Given the description of an element on the screen output the (x, y) to click on. 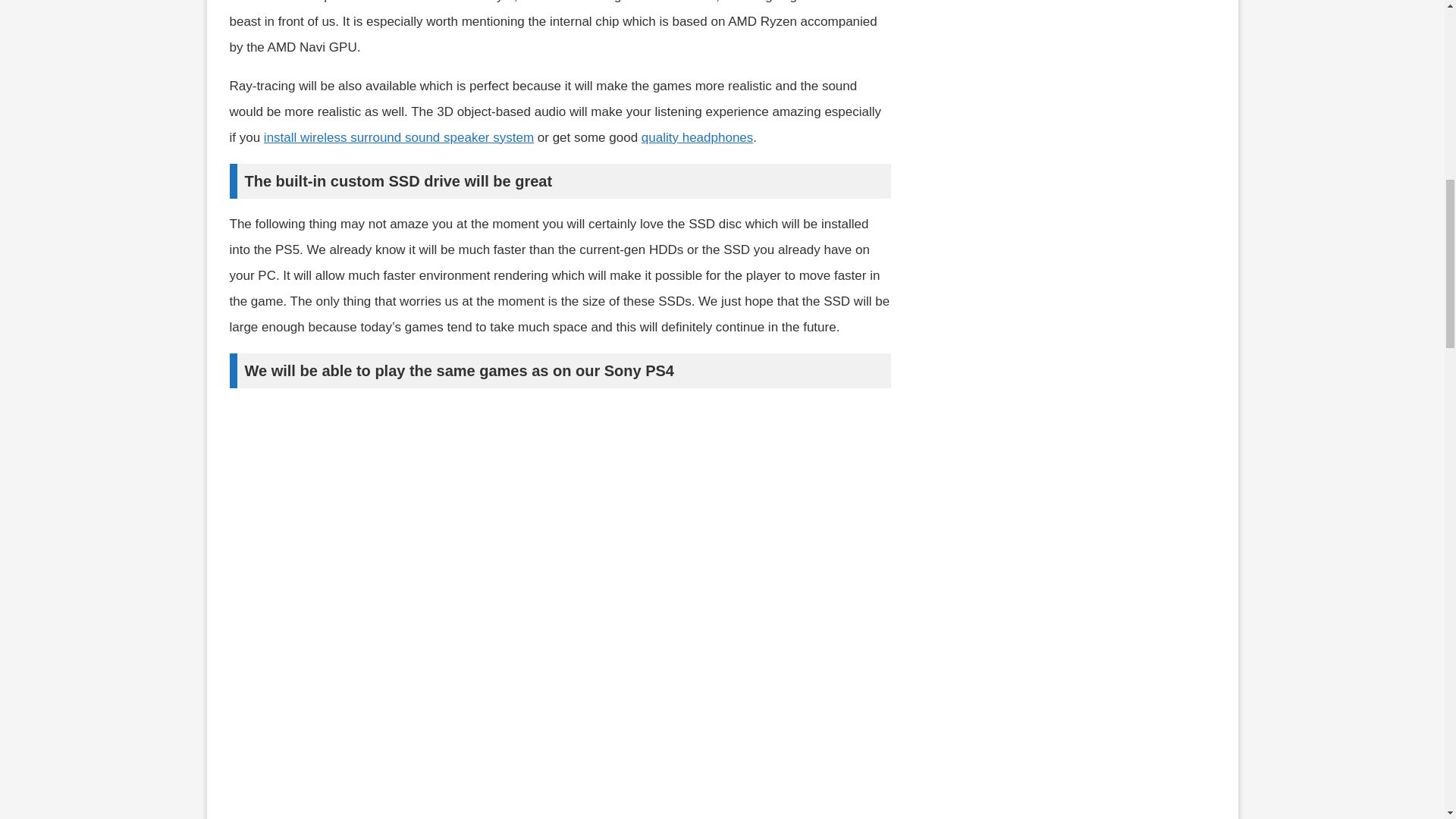
quality headphones (697, 137)
install wireless surround sound speaker system (398, 137)
